Given the description of an element on the screen output the (x, y) to click on. 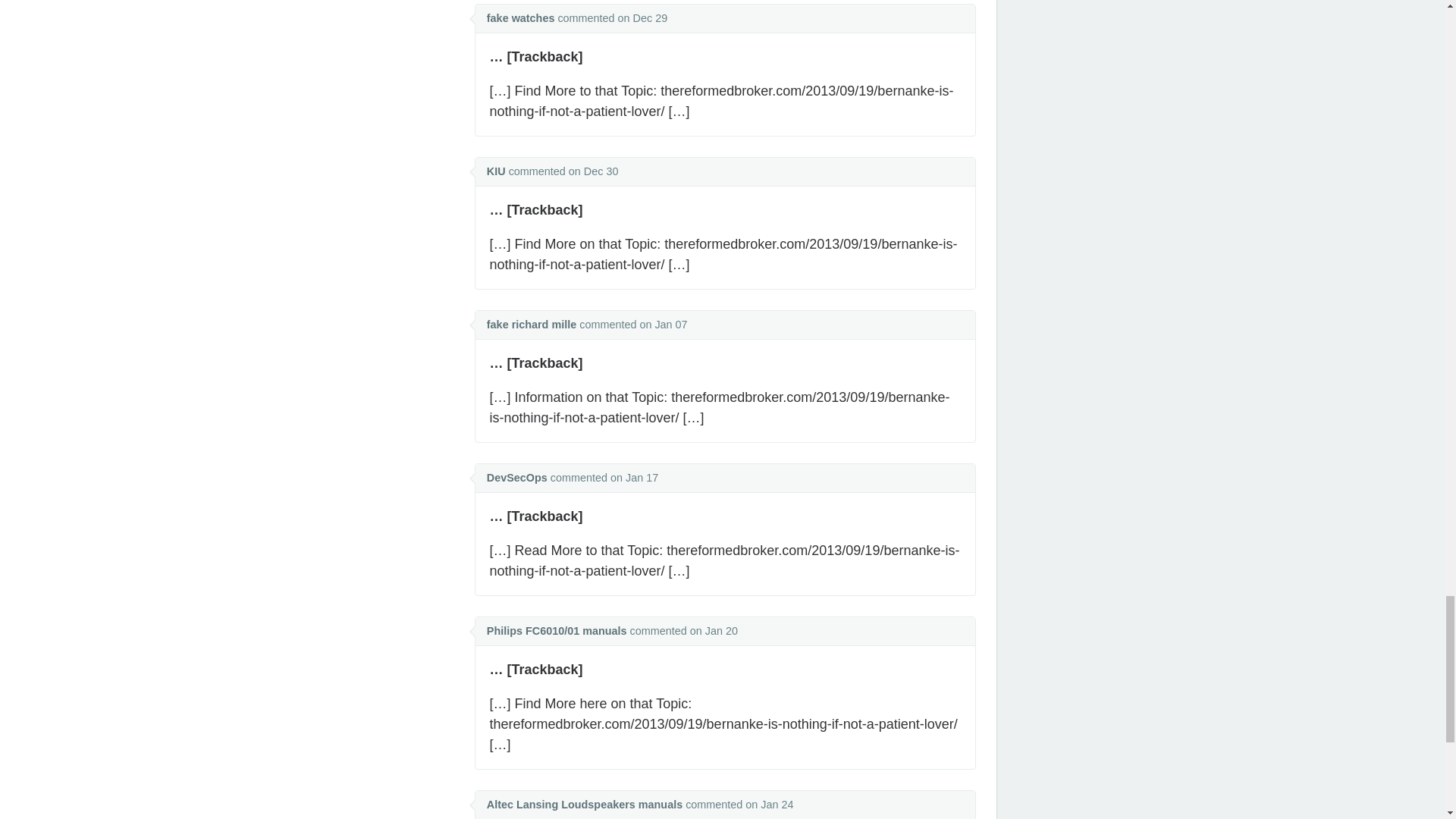
fake watches (520, 18)
DevSecOps (516, 477)
fake richard mille (531, 324)
KIU (495, 171)
